Given the description of an element on the screen output the (x, y) to click on. 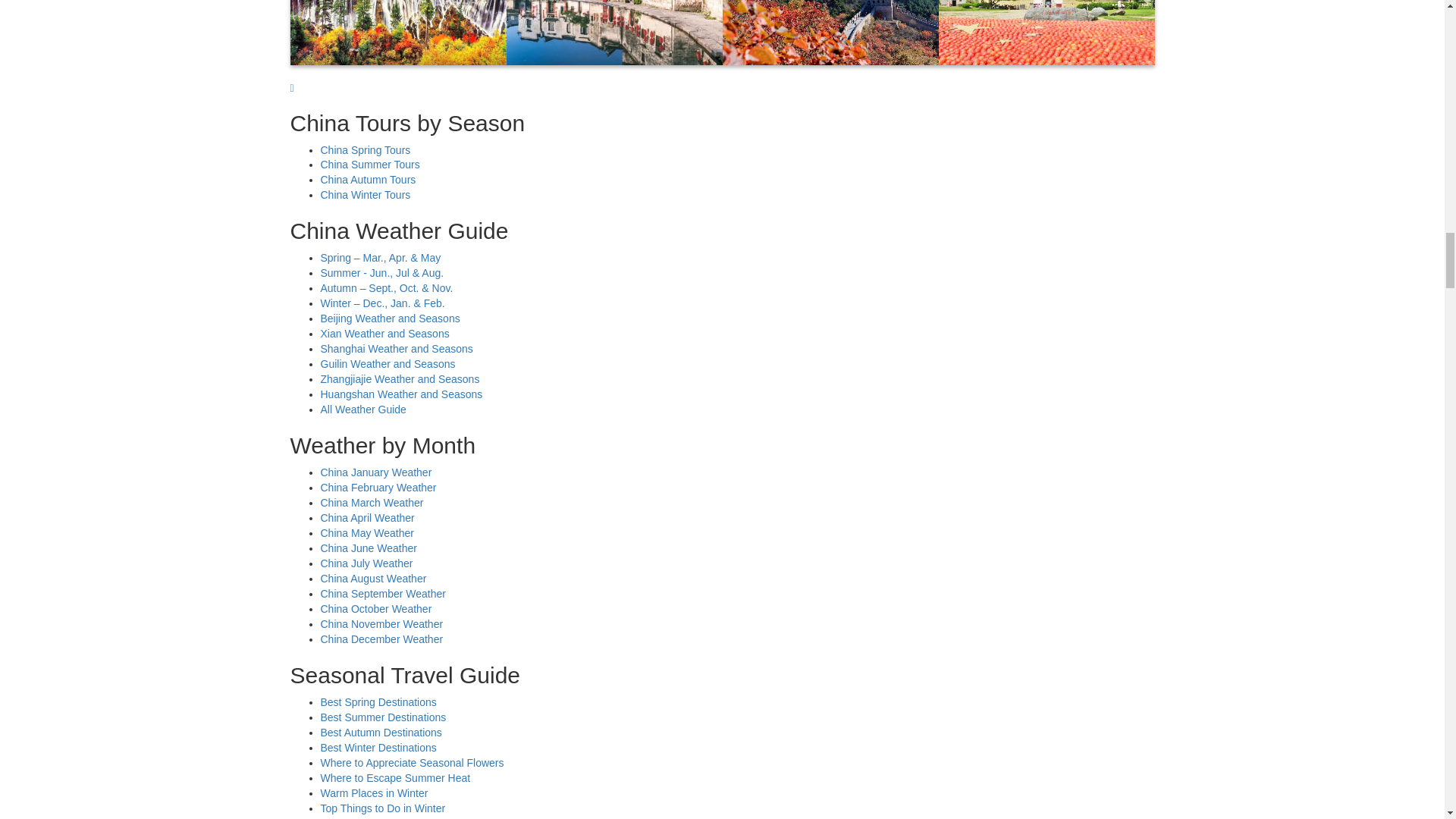
Summer Weather in China (382, 272)
China Spring Tours (365, 150)
Shanghai Weather and Seasons (395, 348)
Autumn Weather in China (386, 287)
Beijing Weather and Seasons (390, 318)
Huangshan Weather and Seasons (400, 394)
China in November (721, 32)
Winter Weather in China (382, 303)
Winter Weather in China (365, 194)
All Weather Guide (363, 409)
